Given the description of an element on the screen output the (x, y) to click on. 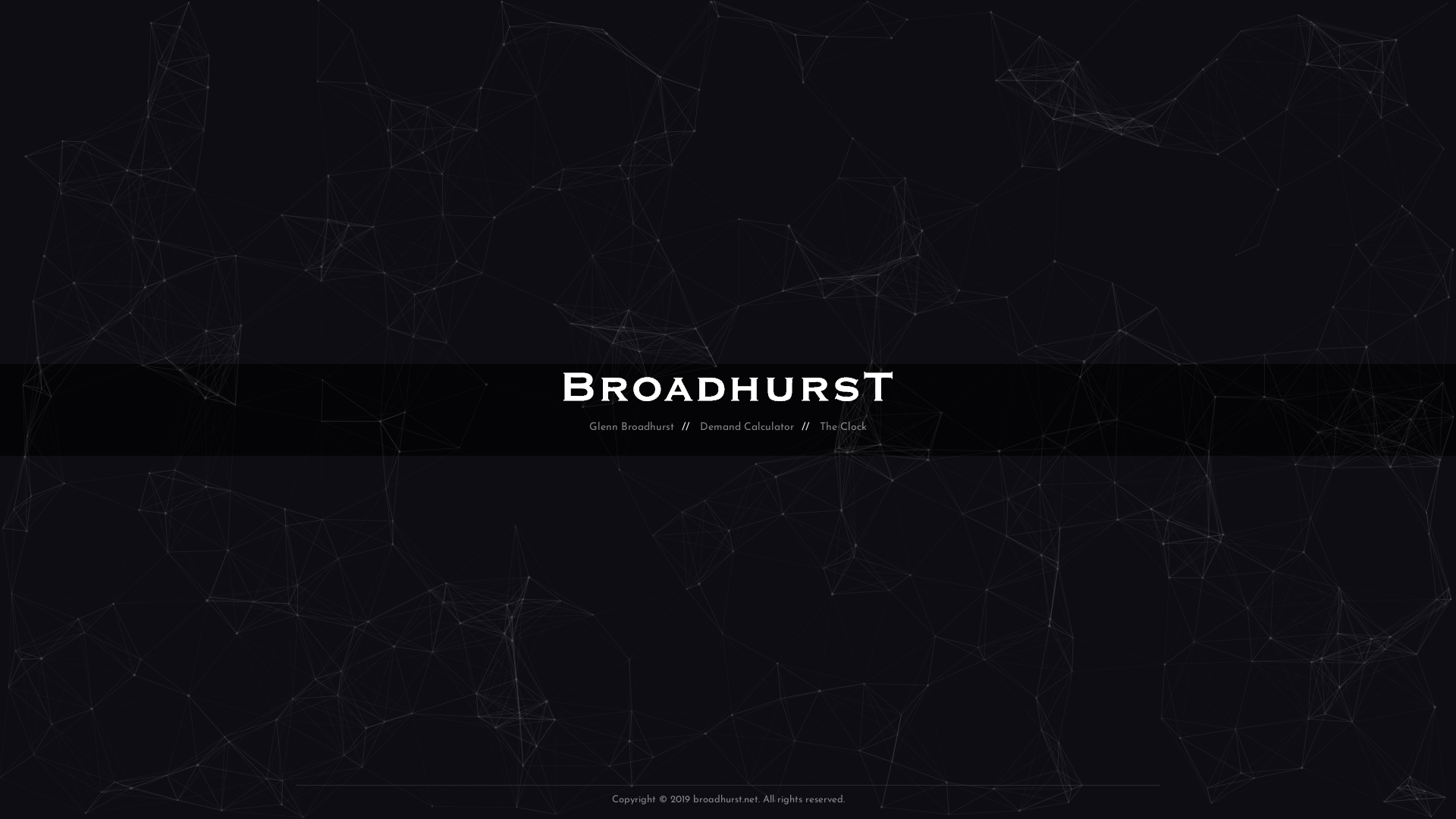
Glenn Broadhurst Element type: text (631, 427)
The Clock Element type: text (842, 427)
Demand Calculator Element type: text (746, 427)
